Given the description of an element on the screen output the (x, y) to click on. 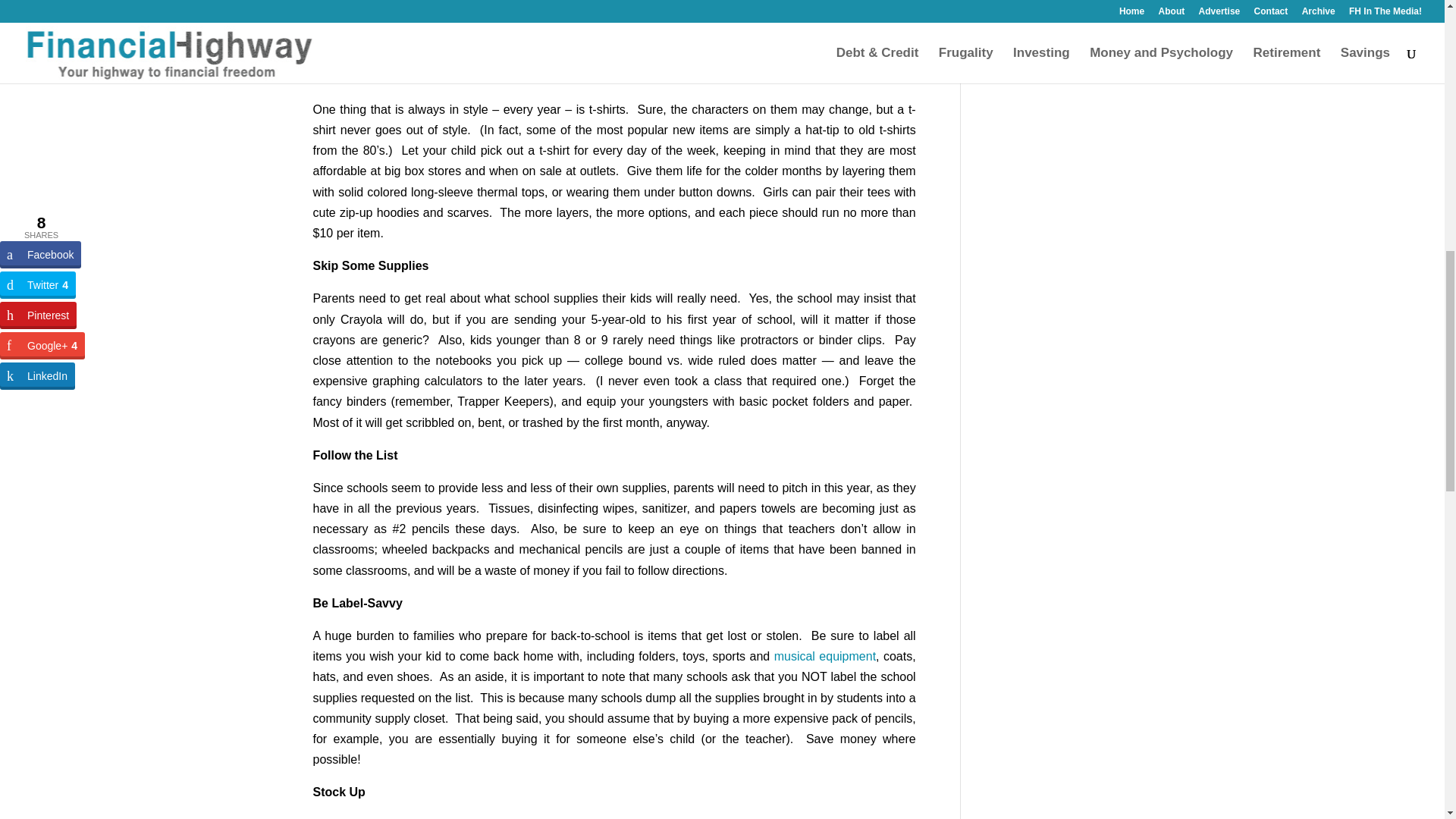
Portland Haul 2 (614, 14)
darahgna (656, 43)
Attribution-NonCommercial-ShareAlike License (551, 43)
darahgna (656, 43)
musical equipment (825, 656)
photo (575, 43)
